Given the description of an element on the screen output the (x, y) to click on. 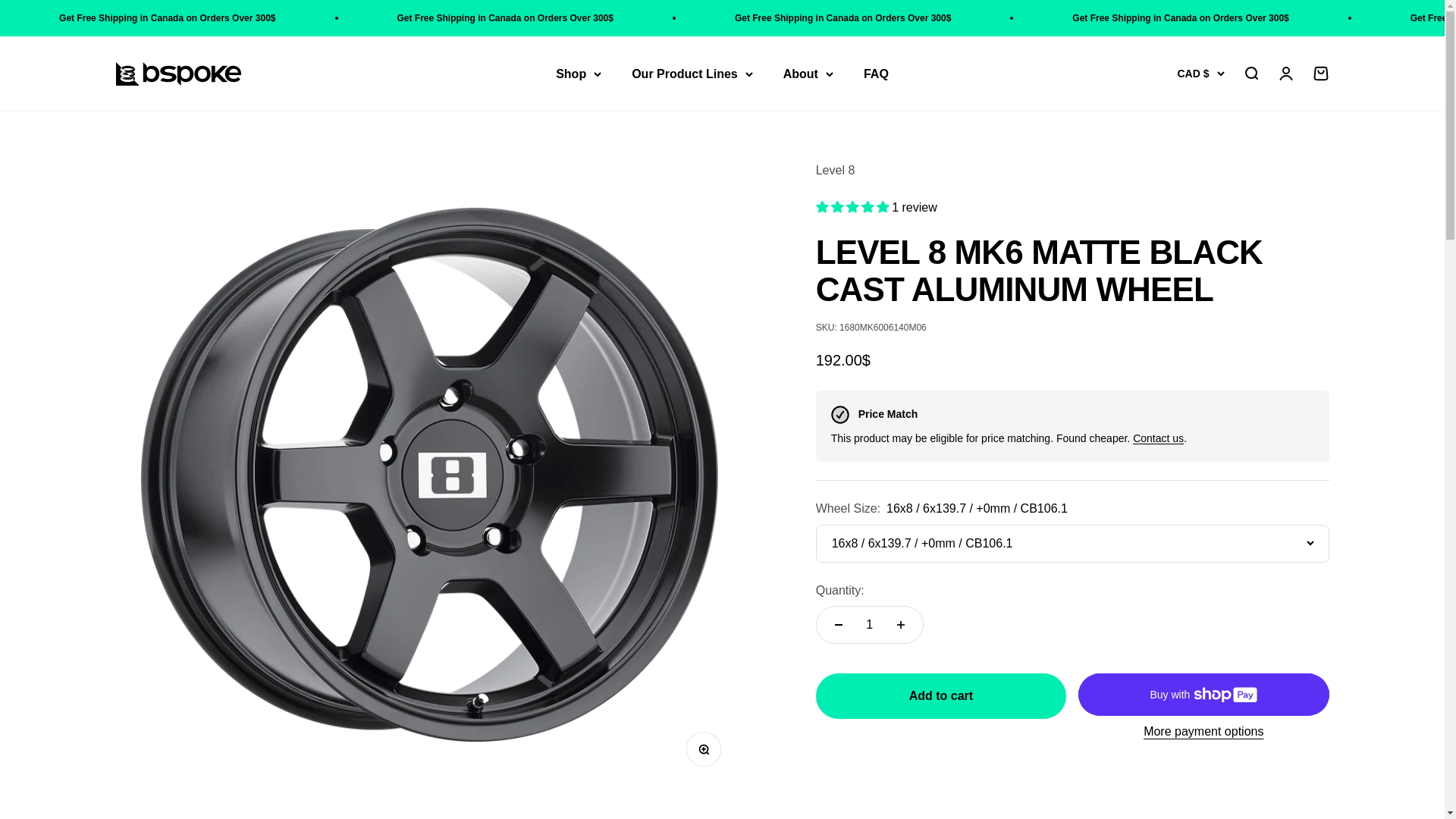
Contact (1157, 438)
